Given the description of an element on the screen output the (x, y) to click on. 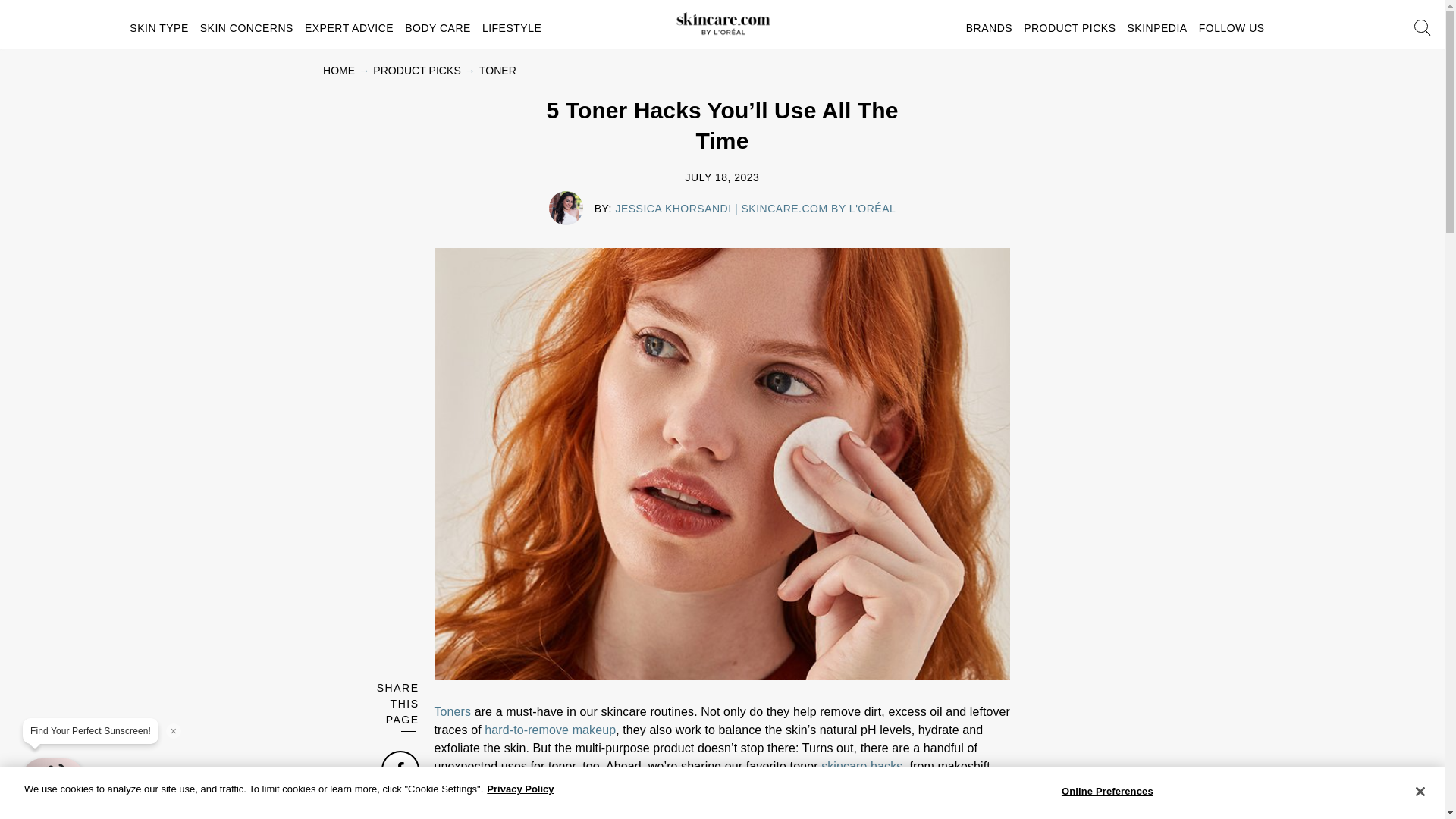
EXPERT ADVICE (348, 27)
LIFESTYLE (511, 27)
BODY CARE (437, 27)
SKIN TYPE (158, 27)
SKIN CONCERNS (247, 27)
